Given the description of an element on the screen output the (x, y) to click on. 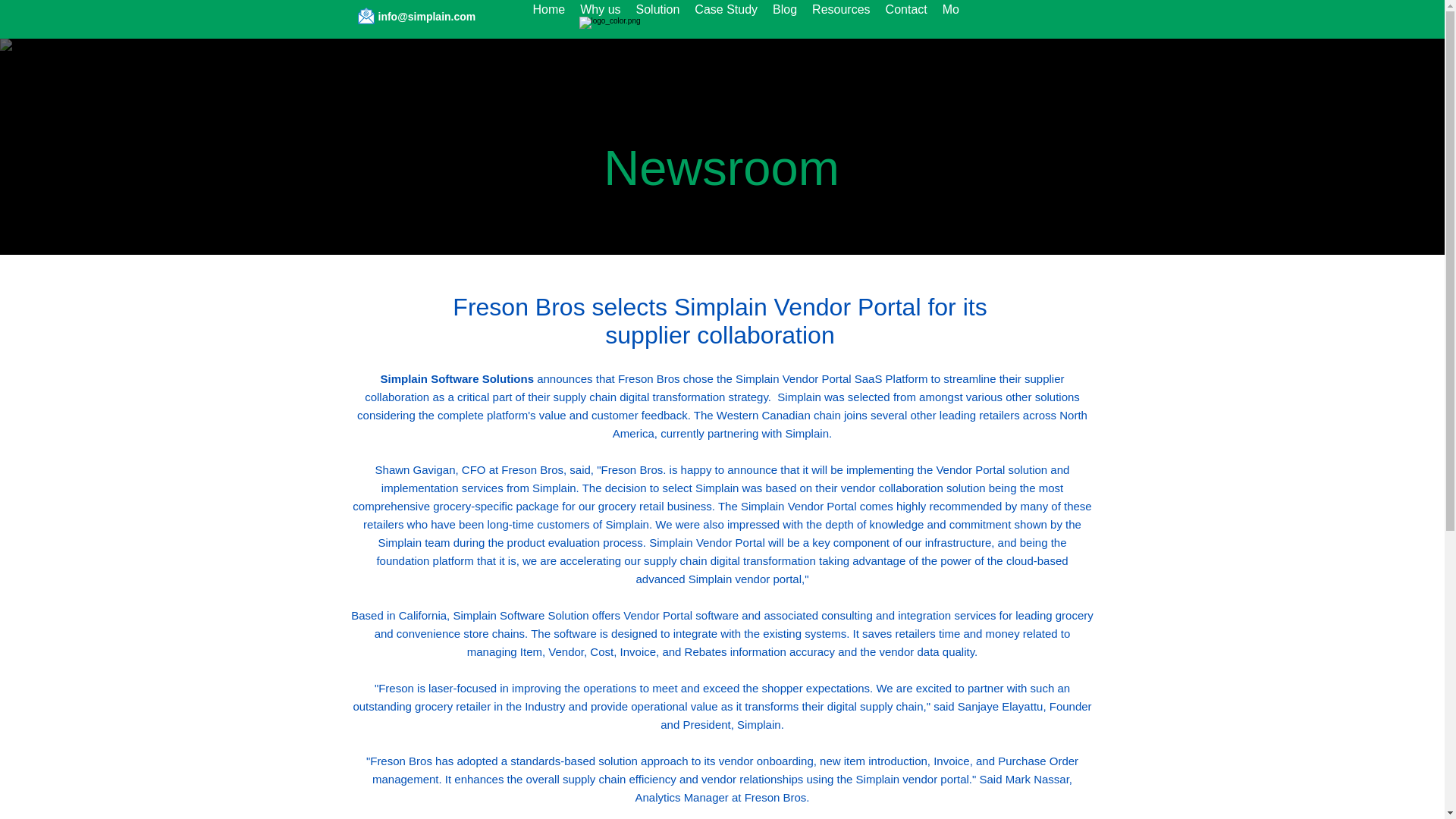
Contact (905, 16)
Home (548, 16)
Solution (657, 16)
Why us (599, 16)
Blog (785, 16)
